Given the description of an element on the screen output the (x, y) to click on. 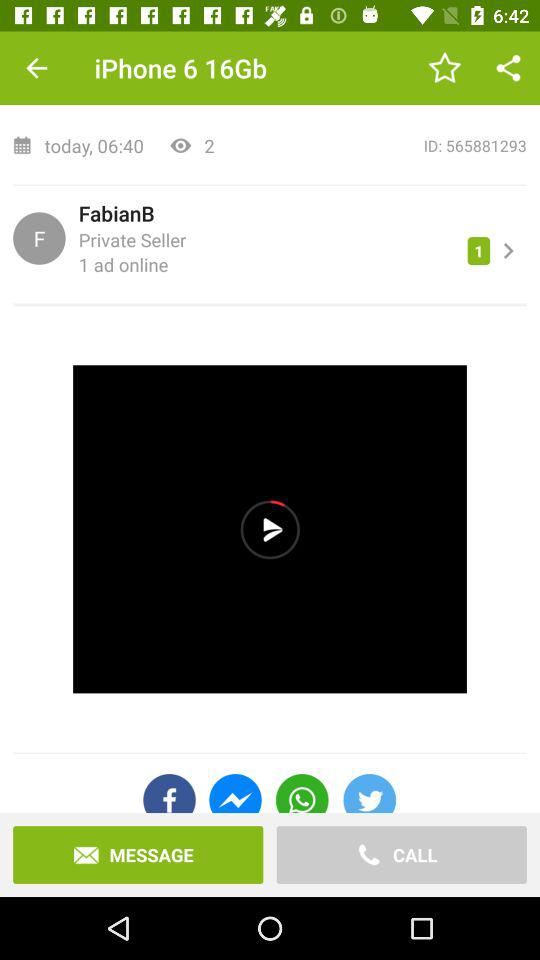
launch item above id: 565881293 (444, 67)
